Given the description of an element on the screen output the (x, y) to click on. 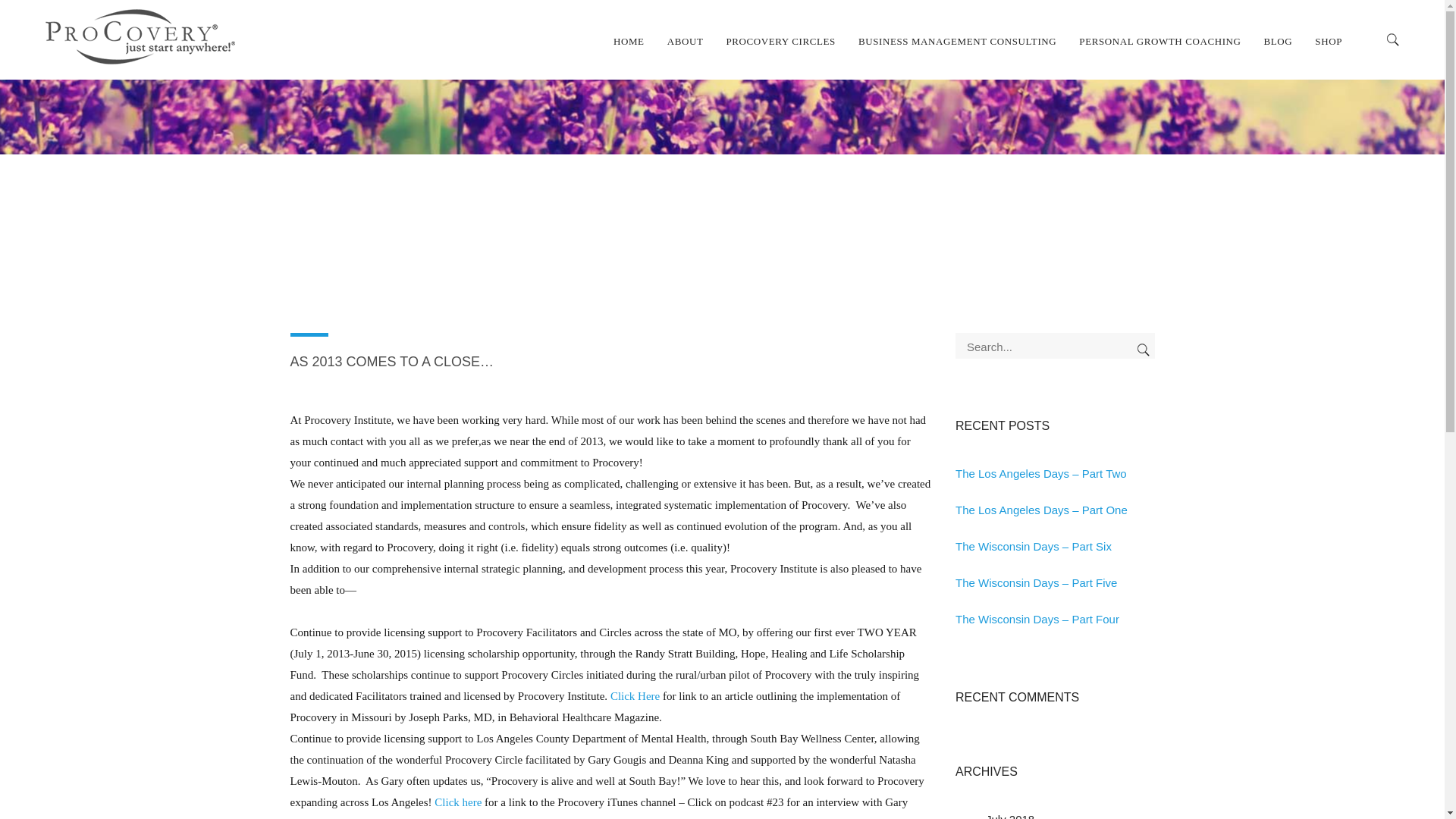
Click here (457, 802)
PERSONAL GROWTH COACHING (1159, 39)
Search... (1054, 345)
PROCOVERY CIRCLES (779, 39)
Click Here (634, 695)
BUSINESS MANAGEMENT CONSULTING (957, 39)
July 2018 (1009, 816)
